Given the description of an element on the screen output the (x, y) to click on. 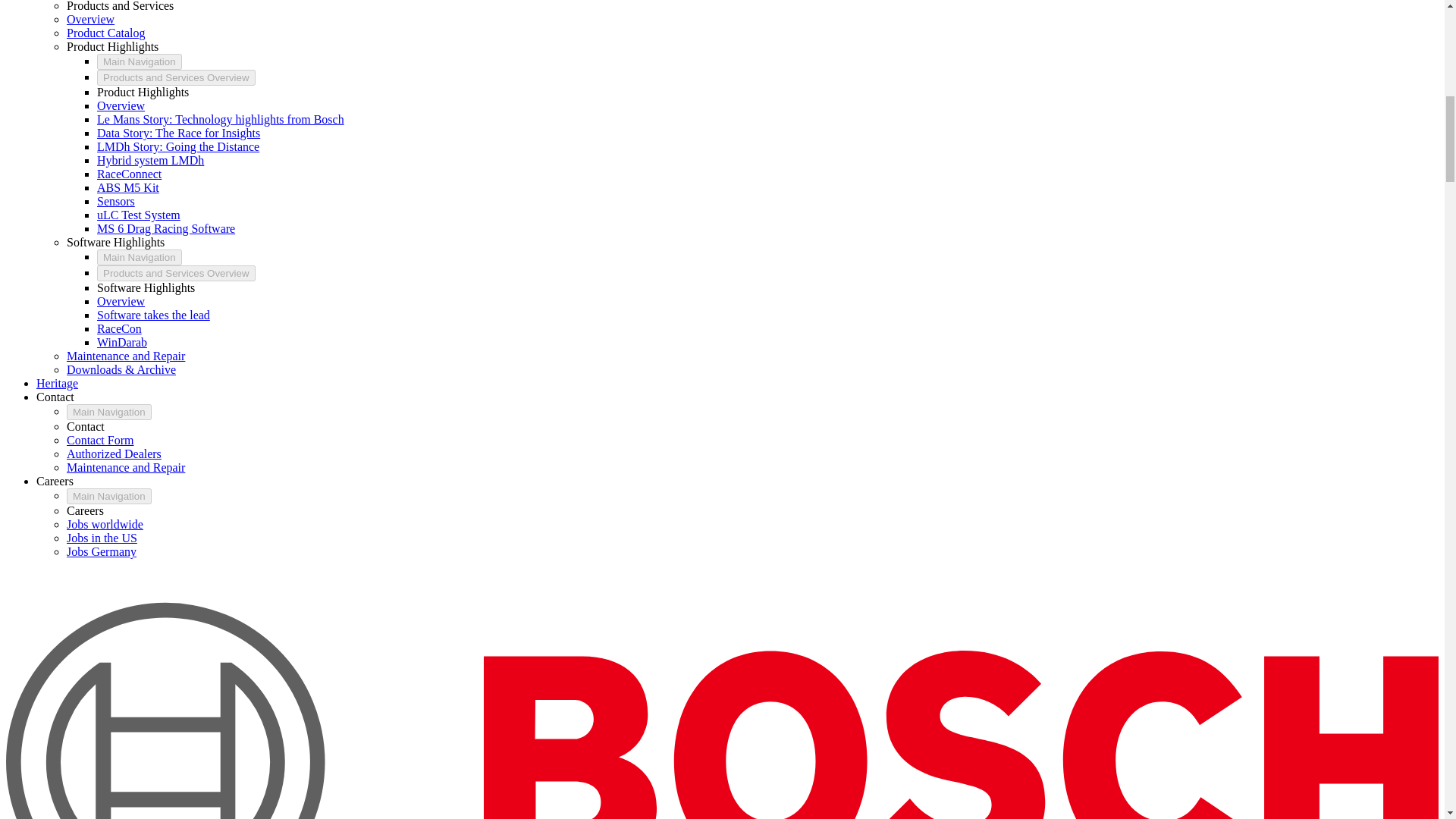
uLC Test System (138, 214)
RaceConnect (129, 173)
Sensors (116, 201)
Overview (120, 105)
Overview (90, 19)
Hybrid system LMDh (150, 160)
Software Highlights (115, 241)
Main Navigation (139, 257)
Product Highlights (112, 46)
MS 6 Drag Racing Software (165, 228)
Data Story: The Race for Insights (178, 132)
Products and Services Overview (176, 77)
LMDh Story: Going the Distance (178, 146)
Le Mans Story: Technology highlights from Bosch (220, 119)
Products and Services Overview (176, 273)
